Given the description of an element on the screen output the (x, y) to click on. 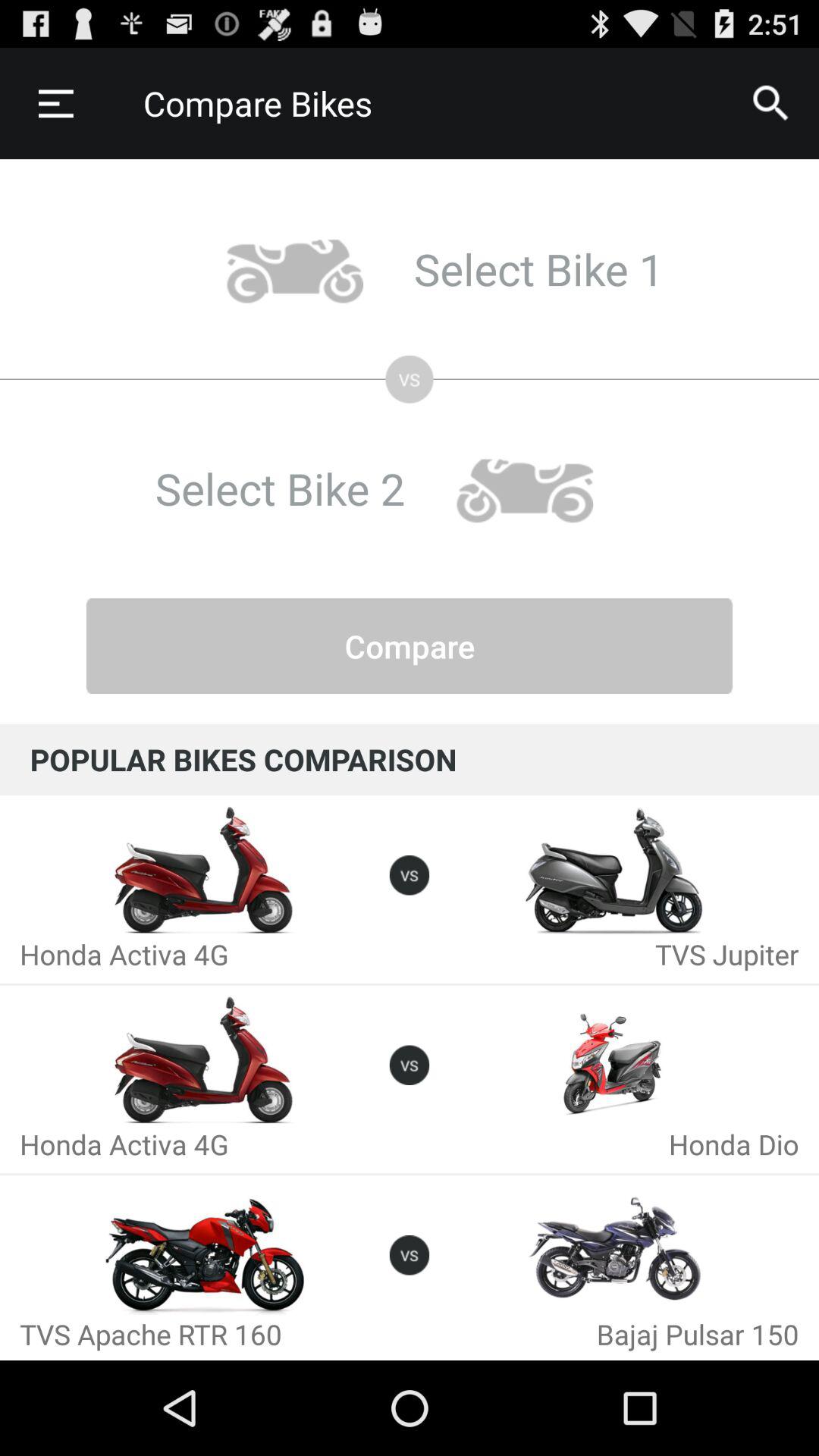
launch item next to compare bikes icon (55, 103)
